Given the description of an element on the screen output the (x, y) to click on. 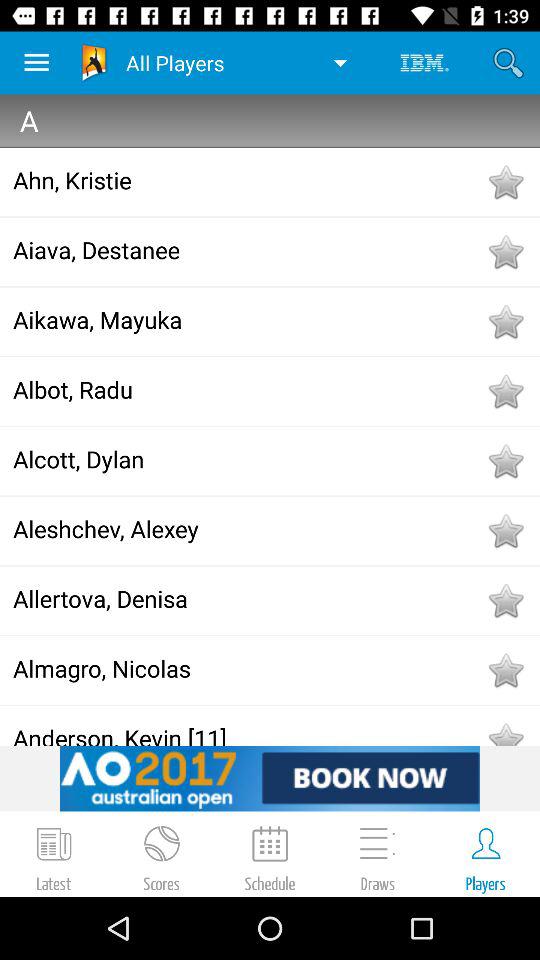
select the seventh star button in the page (505, 600)
